Given the description of an element on the screen output the (x, y) to click on. 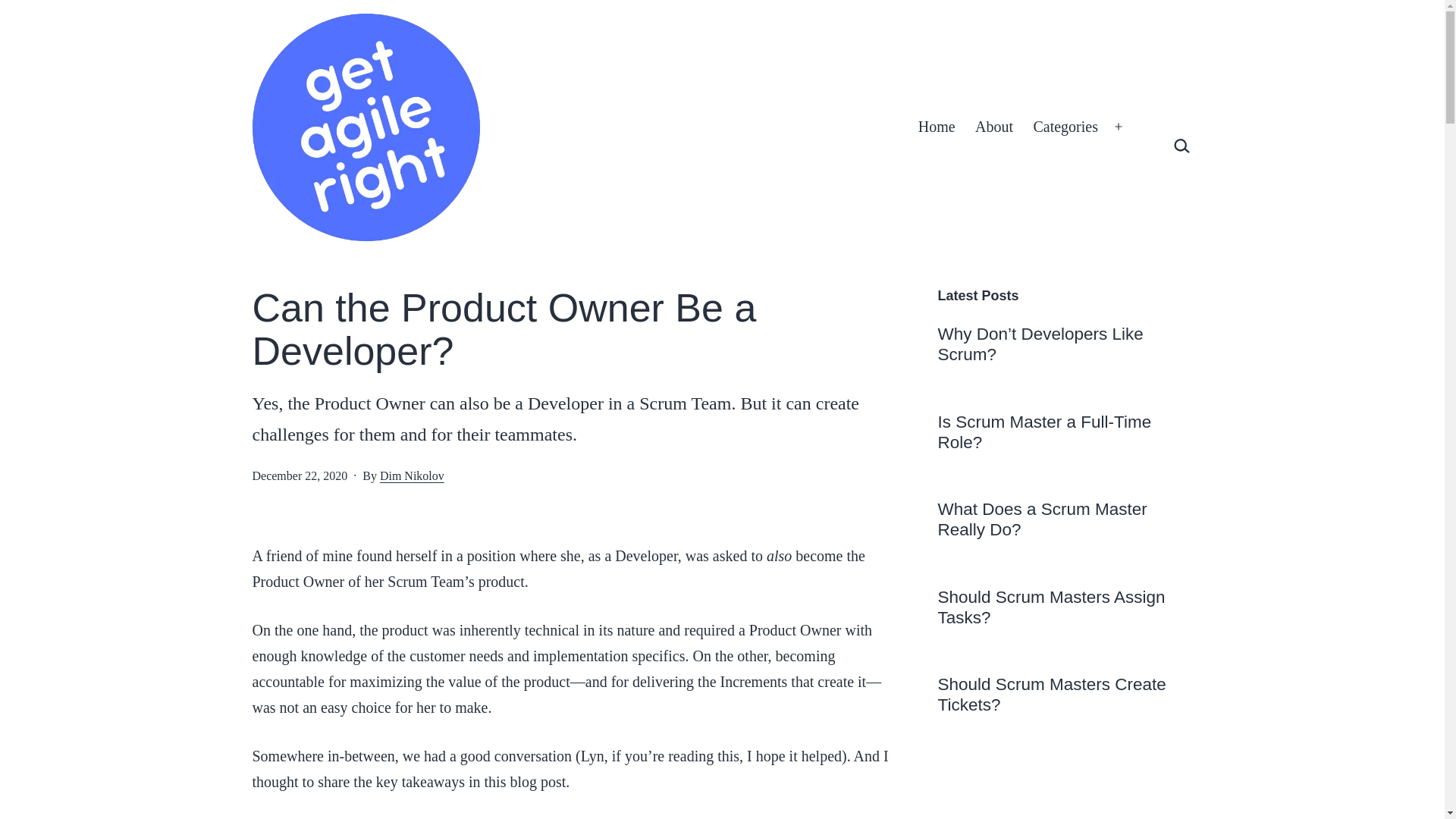
Should Scrum Masters Assign Tasks? (1064, 607)
Should Scrum Masters Create Tickets? (1064, 694)
Home (936, 127)
About (994, 127)
Categories (1065, 127)
Is Scrum Master a Full-Time Role? (1064, 431)
What Does a Scrum Master Really Do? (1064, 518)
Dim Nikolov (412, 475)
